Given the description of an element on the screen output the (x, y) to click on. 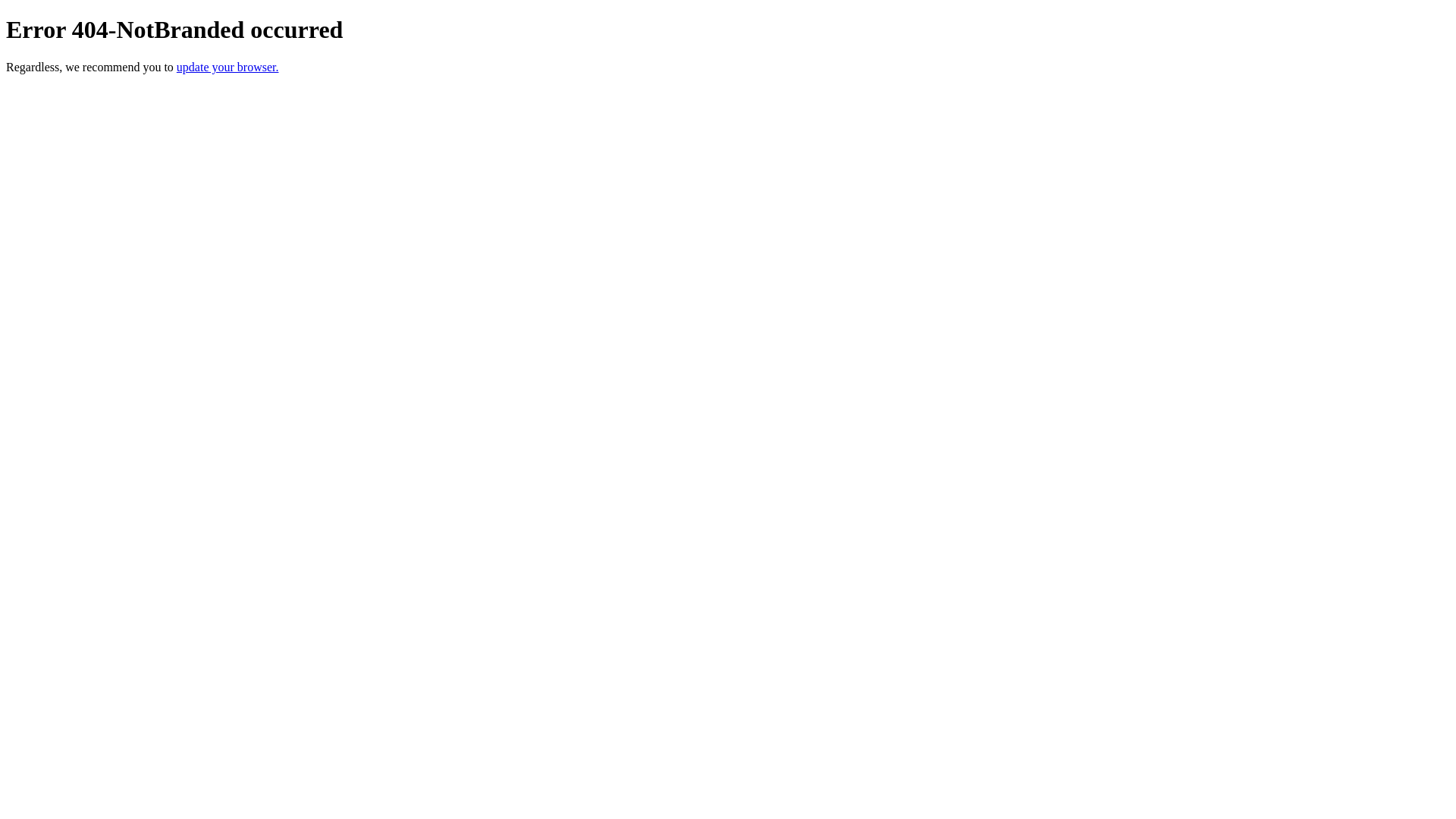
update your browser. Element type: text (227, 66)
